Given the description of an element on the screen output the (x, y) to click on. 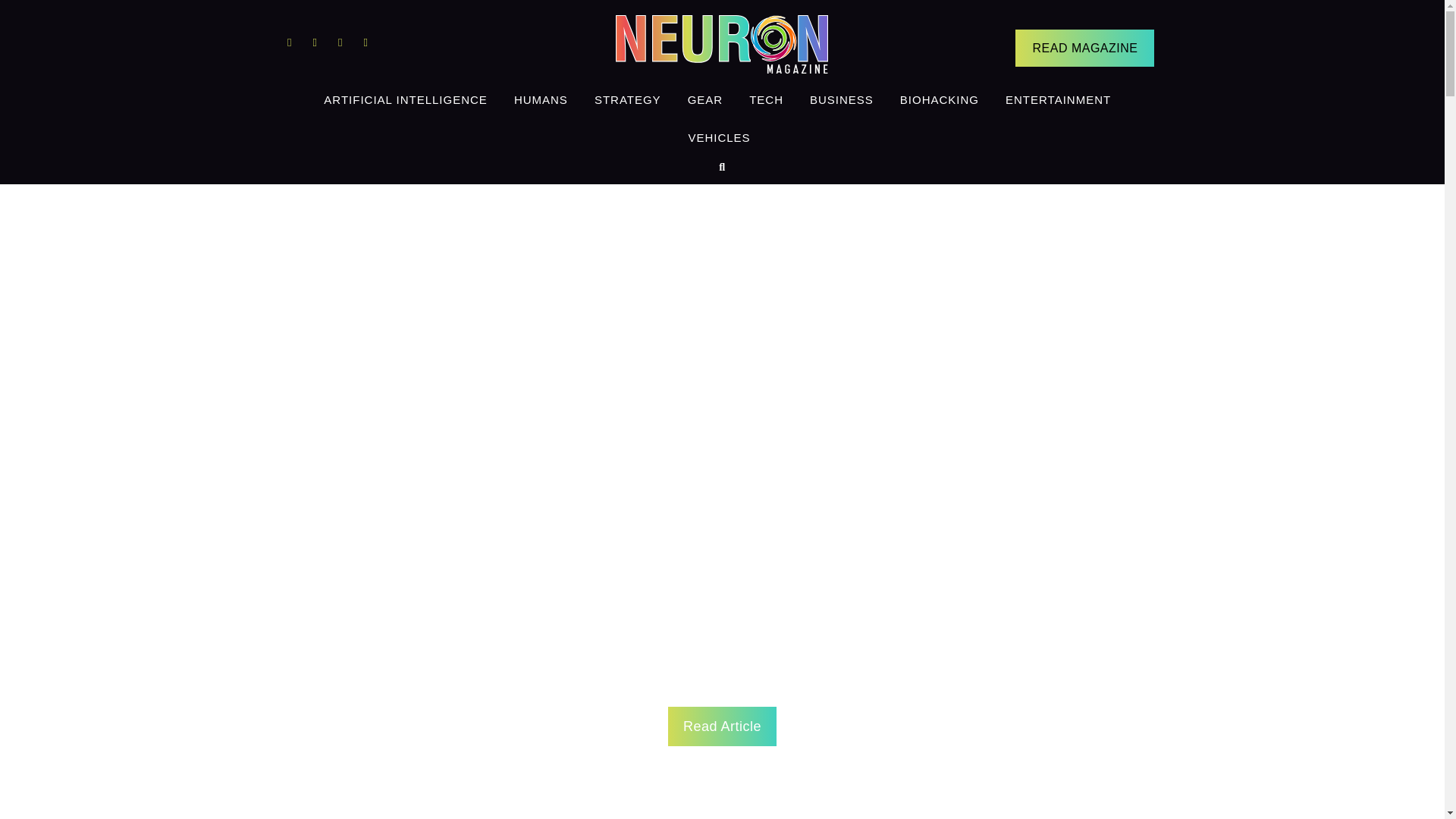
ENTERTAINMENT (1058, 99)
TECH (766, 99)
BUSINESS (841, 99)
HUMANS (540, 99)
READ MAGAZINE (1084, 47)
ARTIFICIAL INTELLIGENCE (406, 99)
BIOHACKING (939, 99)
VEHICLES (719, 137)
STRATEGY (627, 99)
GEAR (706, 99)
